Given the description of an element on the screen output the (x, y) to click on. 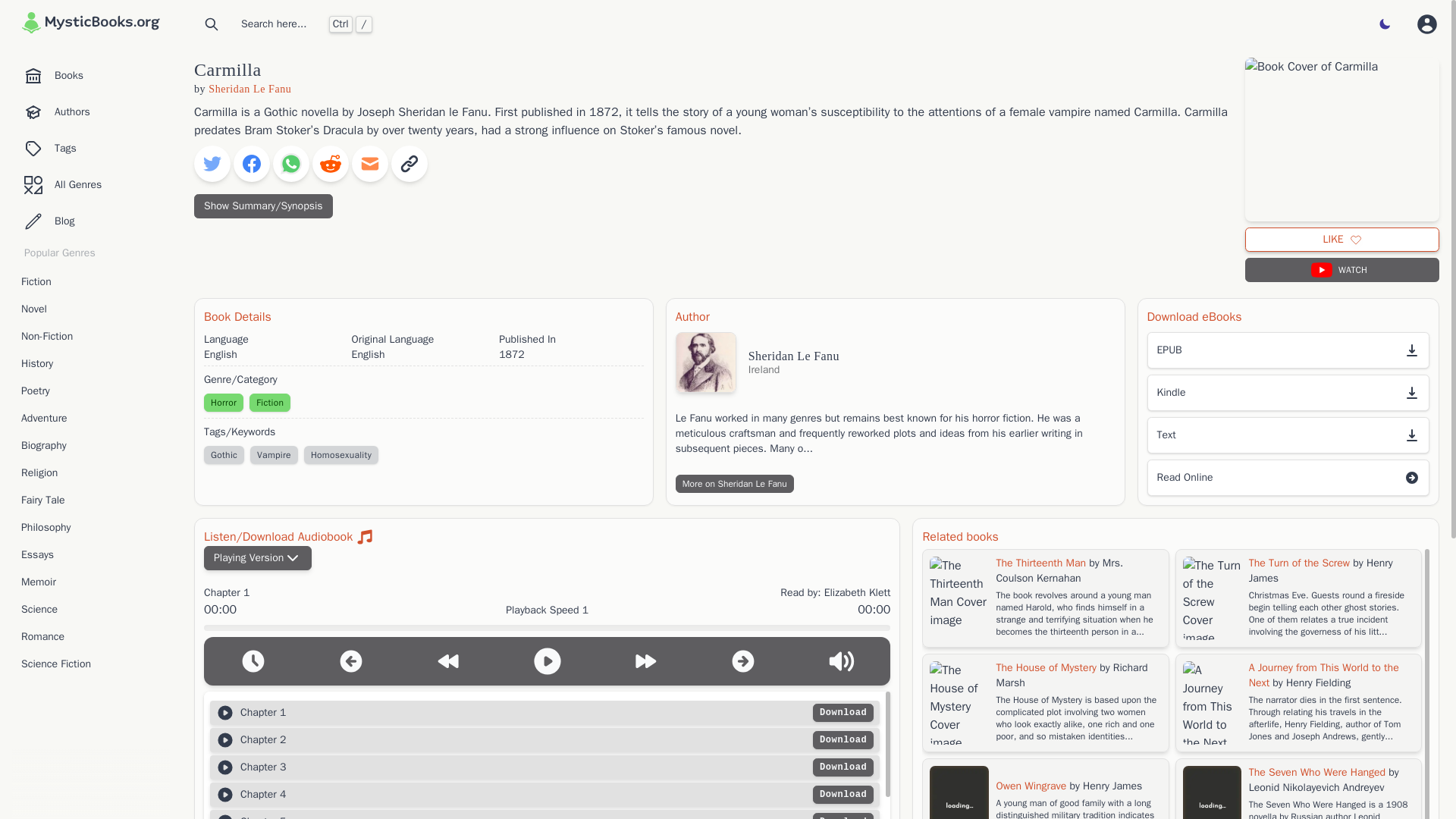
Download Chapter 1 (842, 712)
Romance (90, 636)
Carmilla Full Text (1288, 434)
Books (90, 75)
Biography (90, 445)
Science (90, 609)
Download Chapter 3 (842, 767)
Forward 5 seconds (645, 660)
Vampire (274, 454)
Poetry (90, 391)
Religion (90, 473)
Fiction (90, 282)
Science Fiction (90, 663)
Next audio (743, 660)
Gothic (223, 454)
